Given the description of an element on the screen output the (x, y) to click on. 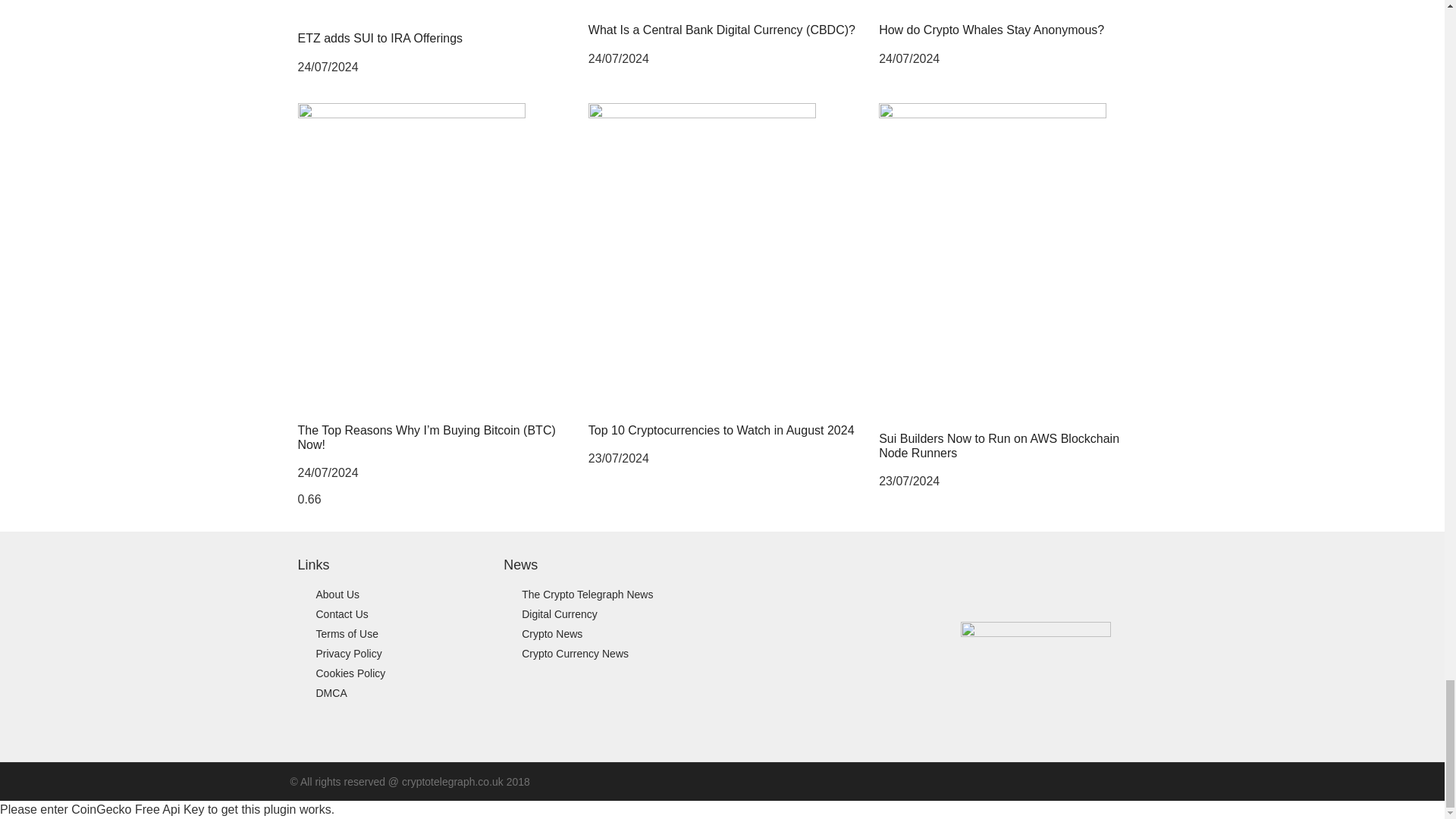
ETZ adds SUI to IRA Offerings (380, 38)
